Given the description of an element on the screen output the (x, y) to click on. 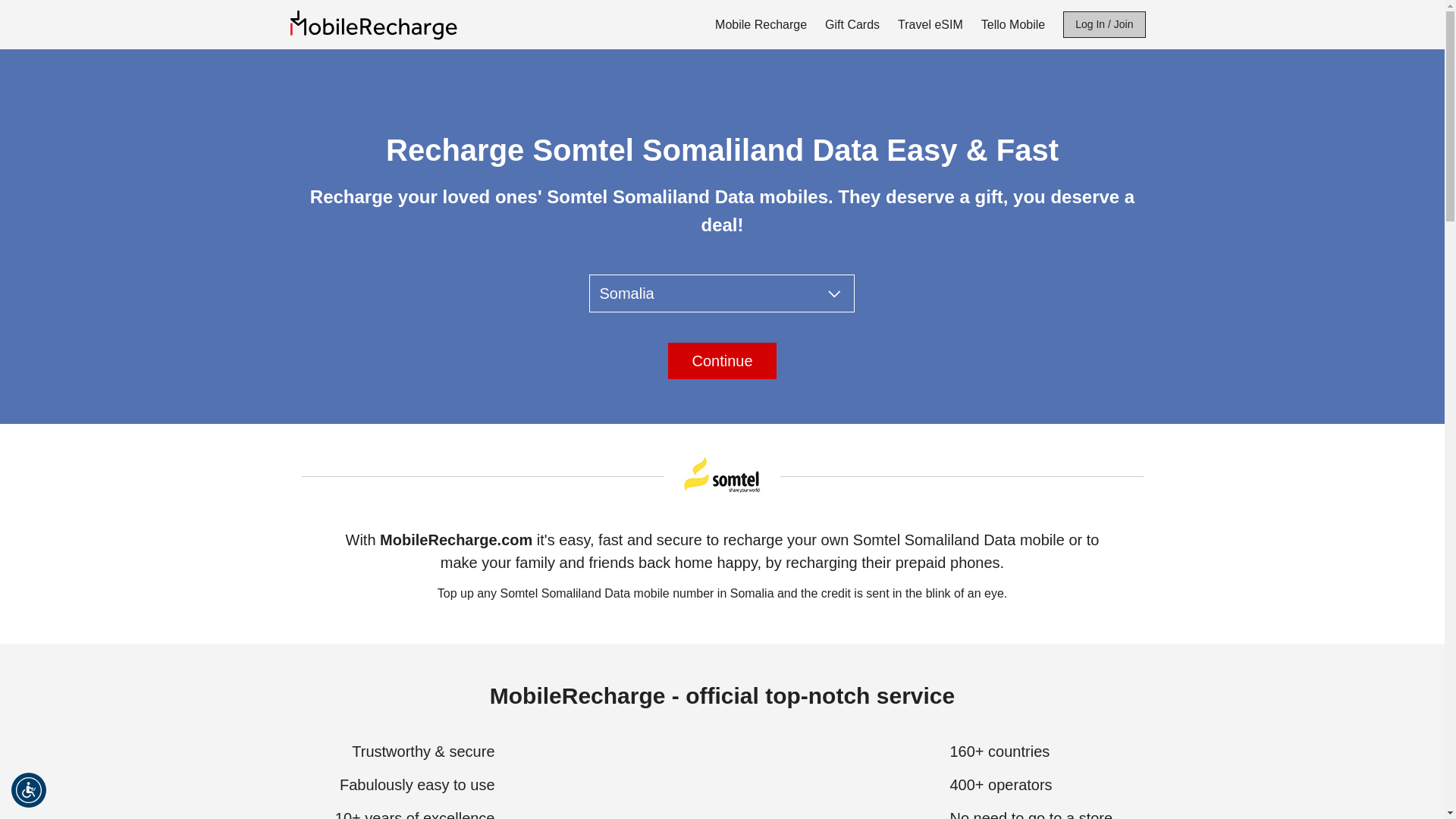
facebook (568, 282)
Select country (721, 293)
Mobile Recharge (760, 24)
google (722, 282)
apple (874, 282)
Travel eSIM (930, 24)
Open the Accessibility Menu (28, 790)
Gift Cards (851, 24)
Tello Mobile (1013, 24)
Continue (722, 361)
